Given the description of an element on the screen output the (x, y) to click on. 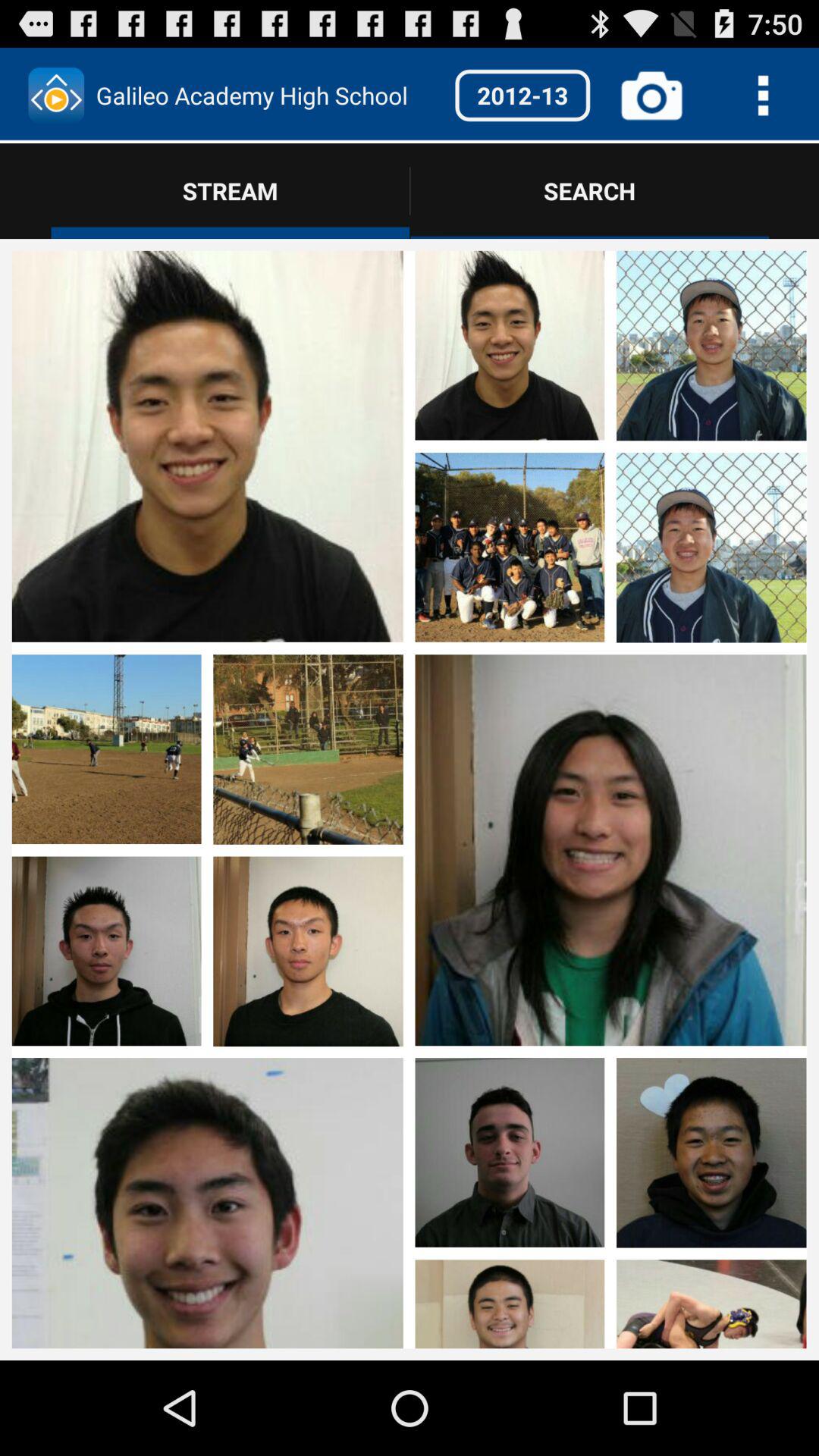
photos page (106, 346)
